Given the description of an element on the screen output the (x, y) to click on. 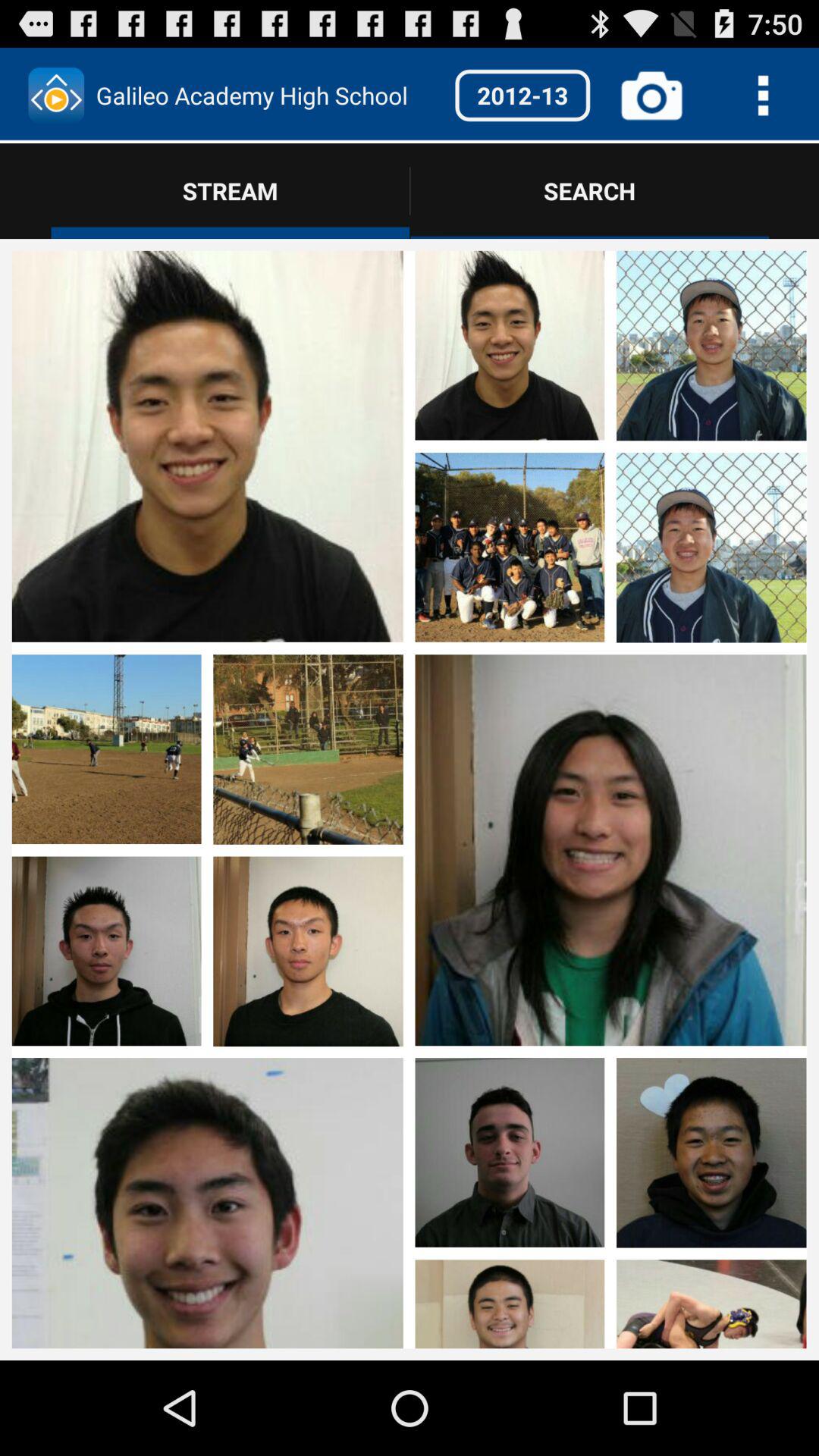
photos page (106, 346)
